Given the description of an element on the screen output the (x, y) to click on. 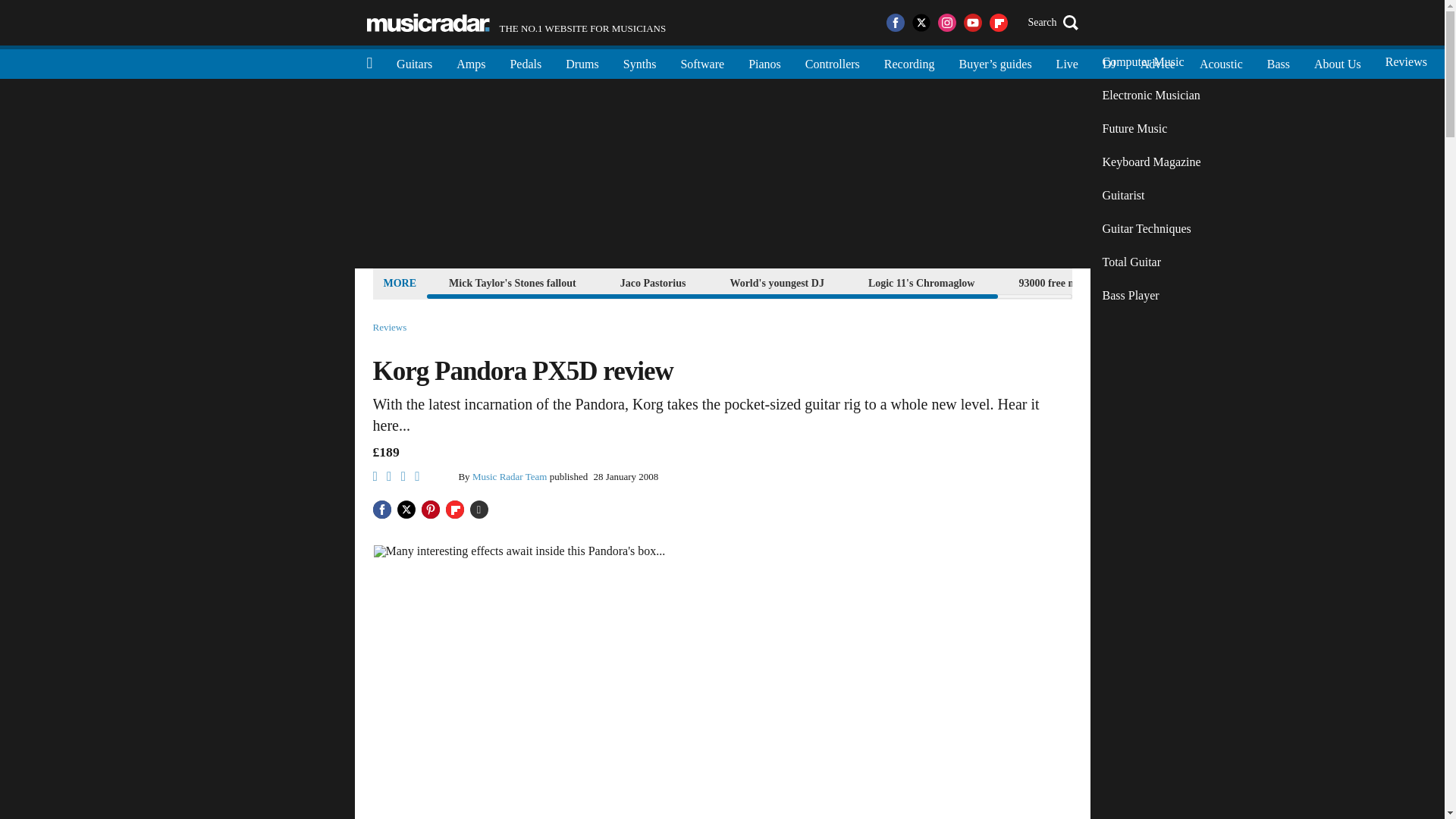
Pianos (764, 61)
Recording (909, 61)
Keyboard Magazine (1151, 162)
Pedals (525, 61)
93000 free music samples (1075, 282)
Controllers (832, 61)
Bass (1278, 61)
Music Radar (427, 22)
Electronic Musician (1151, 95)
Amps (470, 61)
Acoustic (1221, 61)
About Us (1337, 61)
Software (702, 61)
Live (1066, 61)
Future Music (1151, 128)
